Given the description of an element on the screen output the (x, y) to click on. 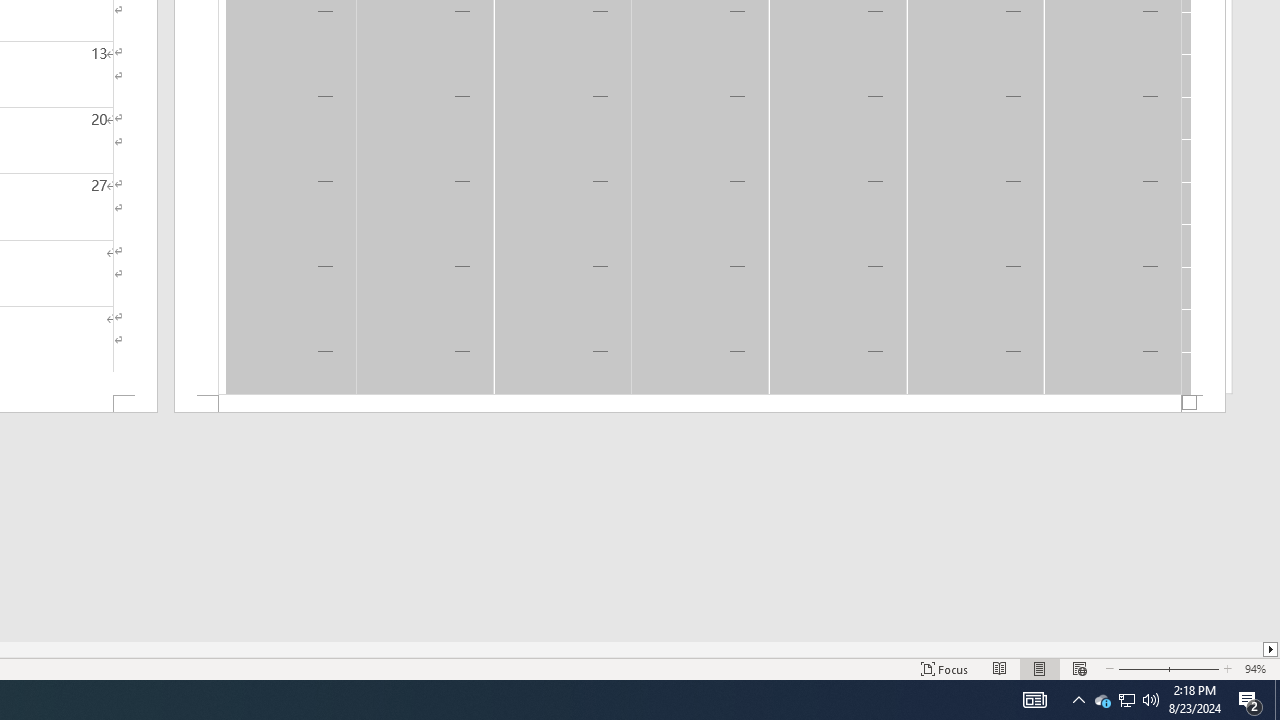
Column right (1271, 649)
